Given the description of an element on the screen output the (x, y) to click on. 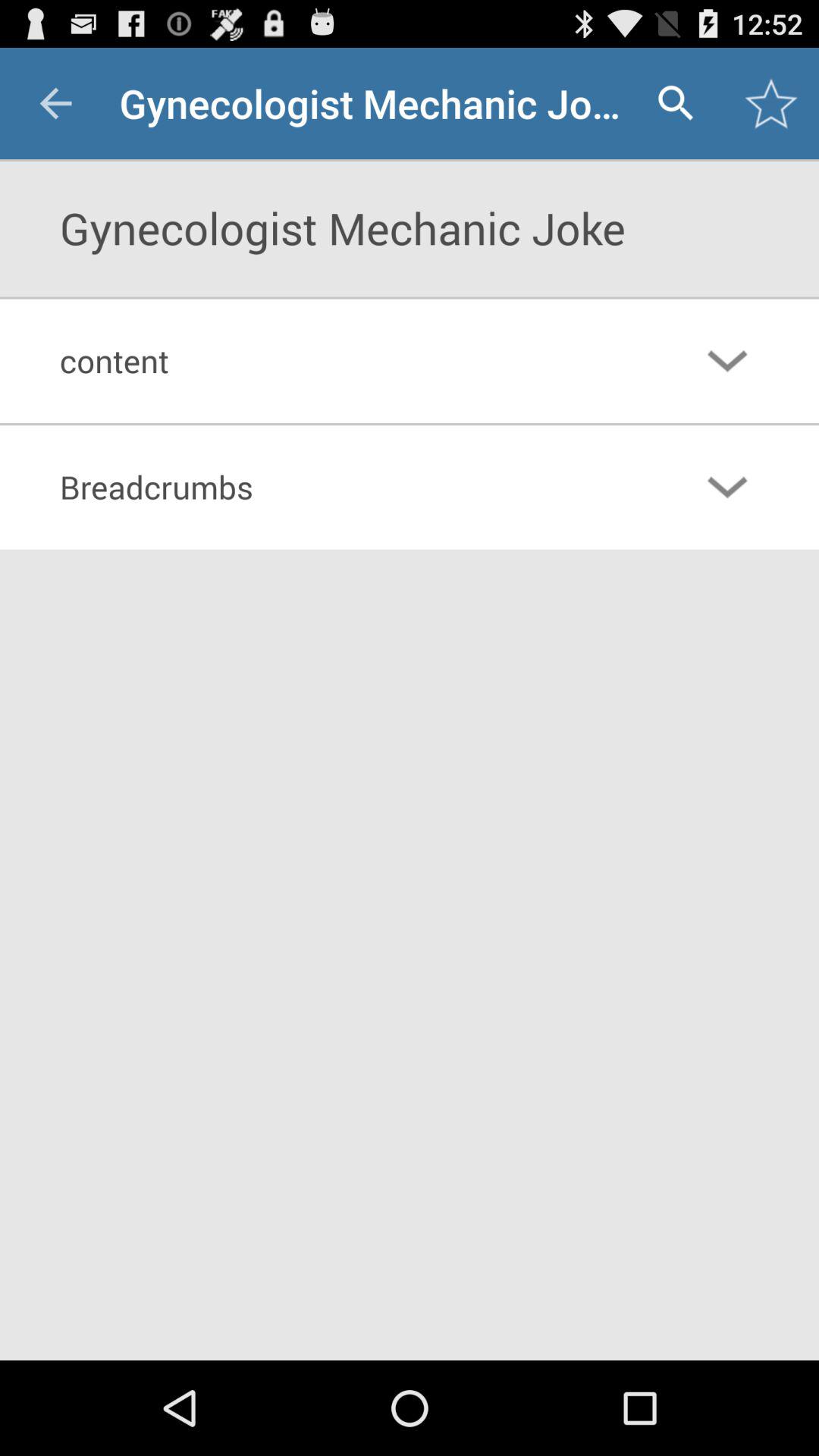
tap icon at the top left corner (55, 103)
